Given the description of an element on the screen output the (x, y) to click on. 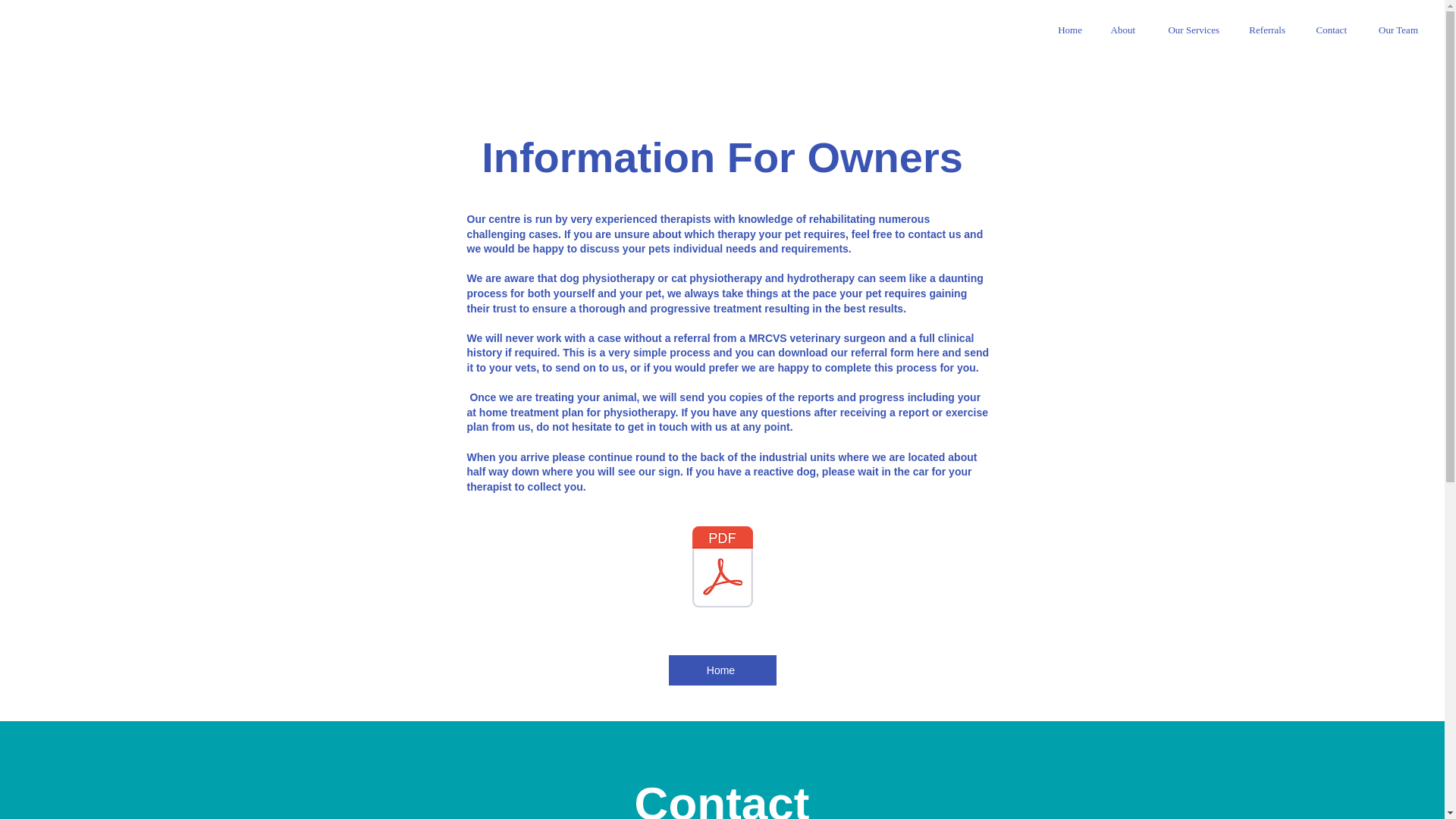
Home (1066, 30)
Our Team (1393, 30)
About (1120, 30)
Contact (1327, 30)
Home (722, 670)
